Given the description of an element on the screen output the (x, y) to click on. 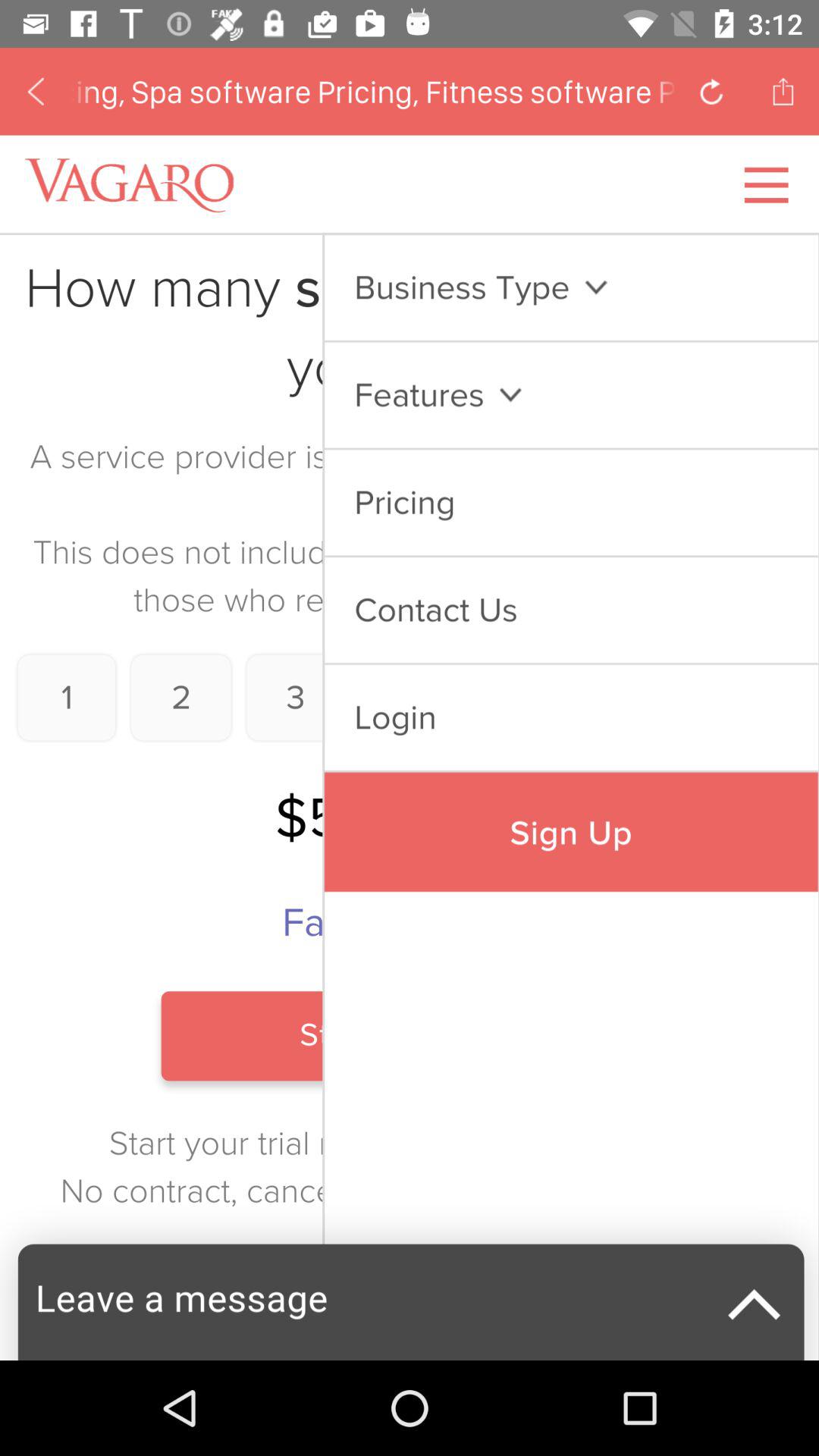
go to previous (711, 91)
